Given the description of an element on the screen output the (x, y) to click on. 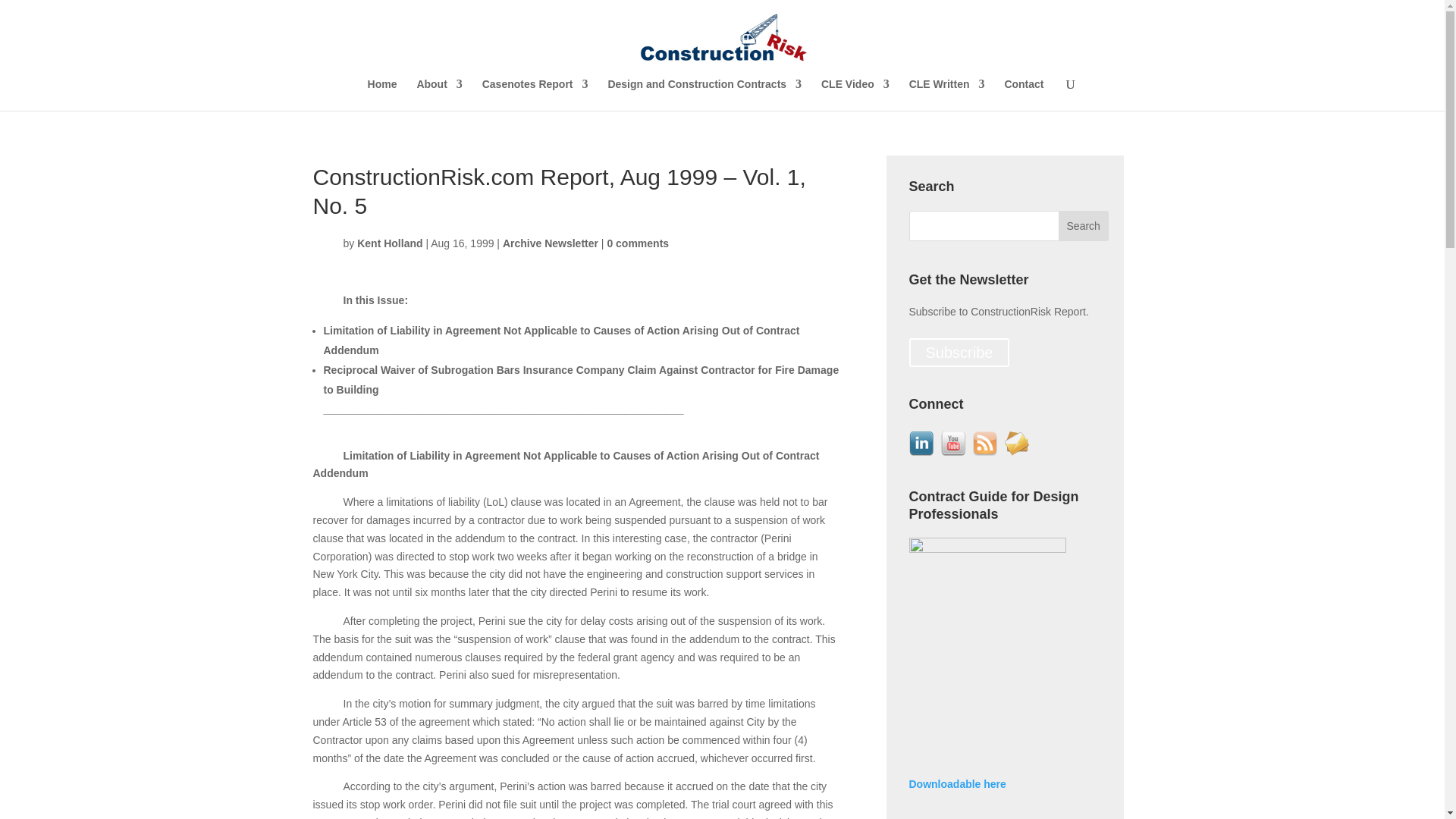
 RSS (983, 443)
Subscribe (958, 352)
About (438, 94)
Contact (1023, 94)
CLE Written (946, 94)
Posts by Kent Holland (389, 243)
Kent Holland (389, 243)
Casenotes Report (534, 94)
Archive Newsletter (550, 243)
Search (1083, 225)
CLE Video (855, 94)
 YouTube (951, 443)
Search (1083, 225)
Design and Construction Contracts (704, 94)
 E-mail (1015, 443)
